Given the description of an element on the screen output the (x, y) to click on. 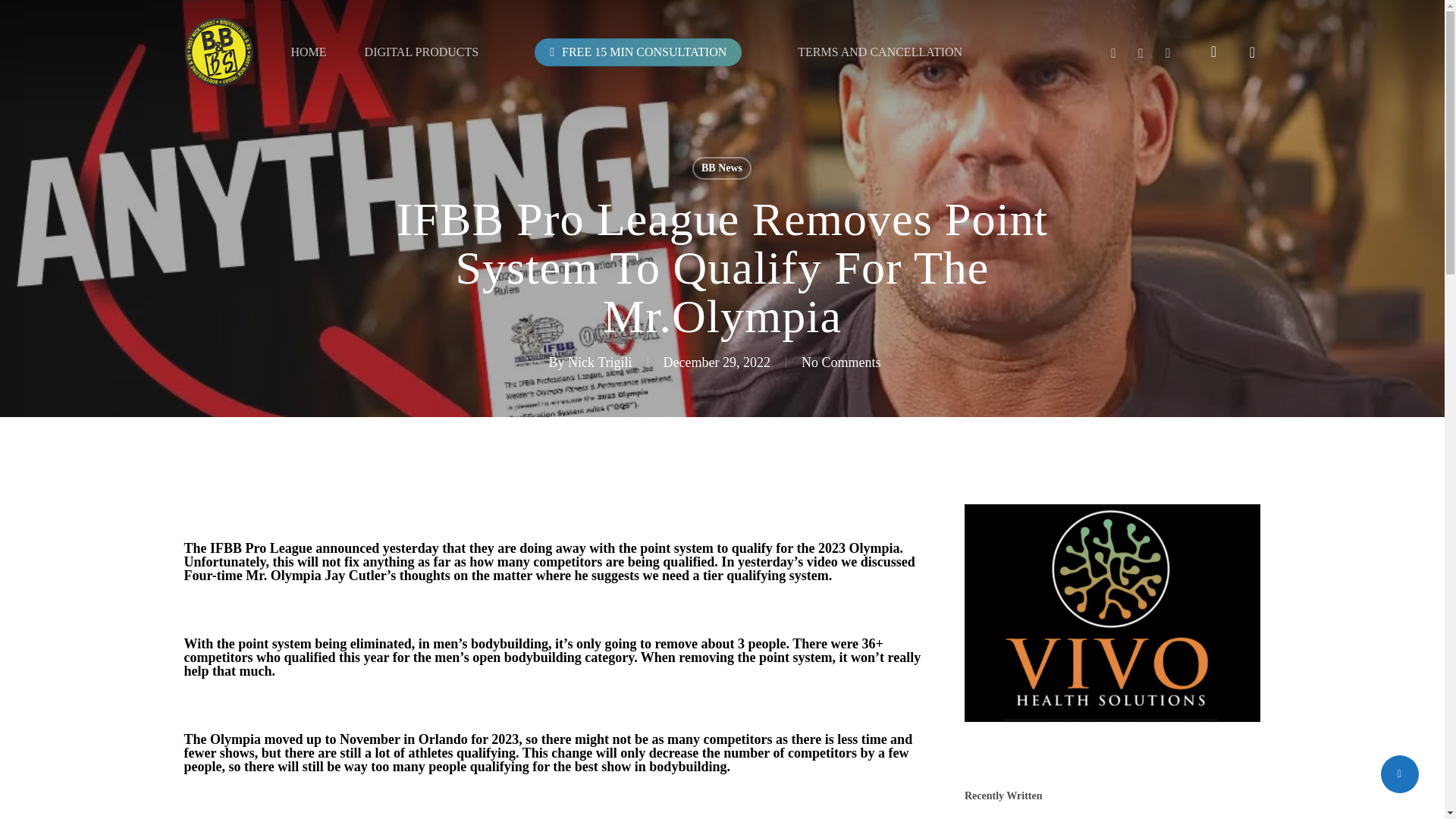
WHATSAPP (1167, 51)
DIGITAL PRODUCTS (421, 51)
Posts by Nick Trigili (599, 362)
HOME (307, 51)
Nick Trigili (599, 362)
BB News (722, 168)
FREE 15 MIN CONSULTATION (638, 51)
INSTAGRAM (1112, 51)
account (1213, 51)
No Comments (841, 362)
